Given the description of an element on the screen output the (x, y) to click on. 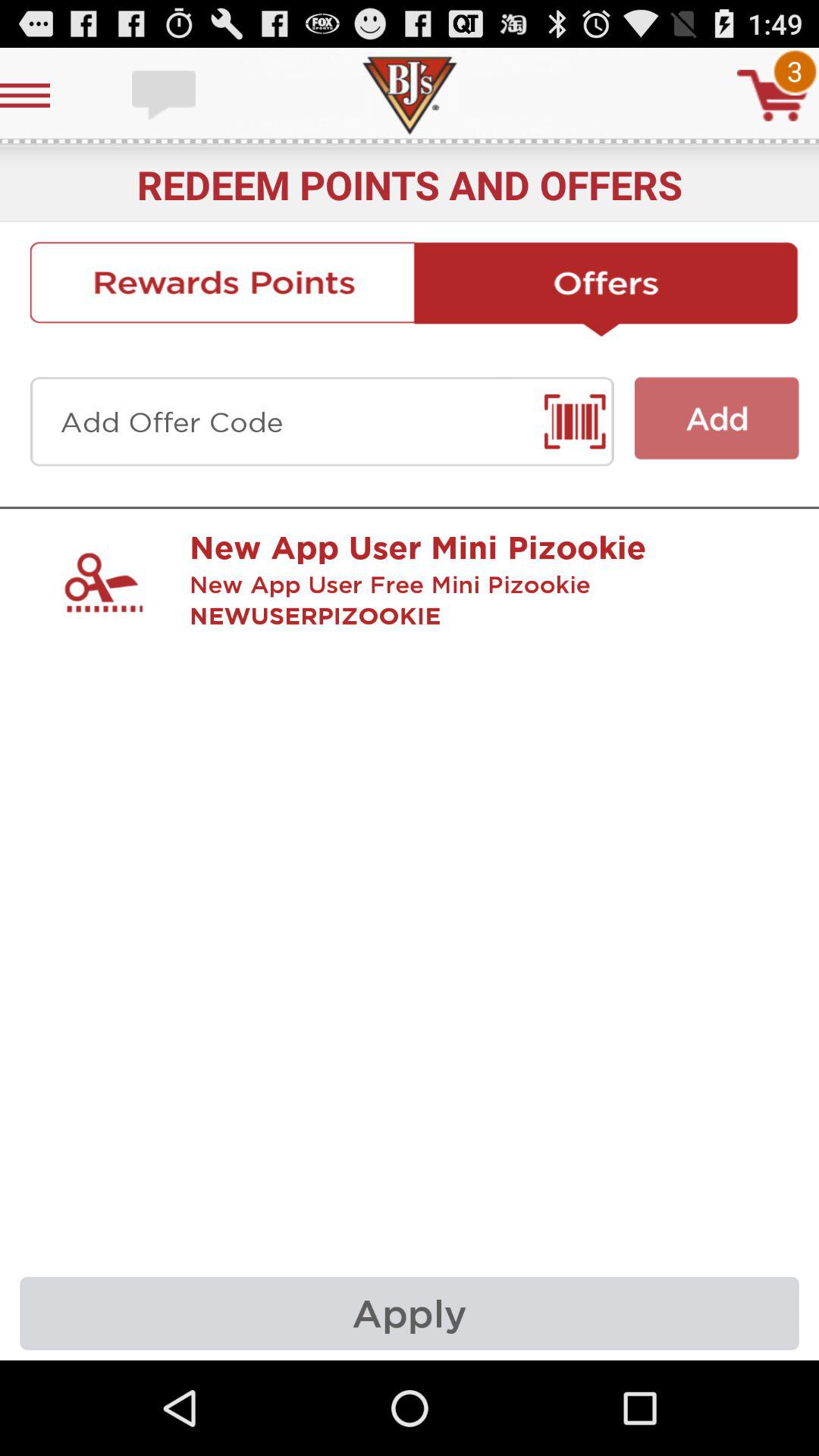
scan upc (322, 421)
